Given the description of an element on the screen output the (x, y) to click on. 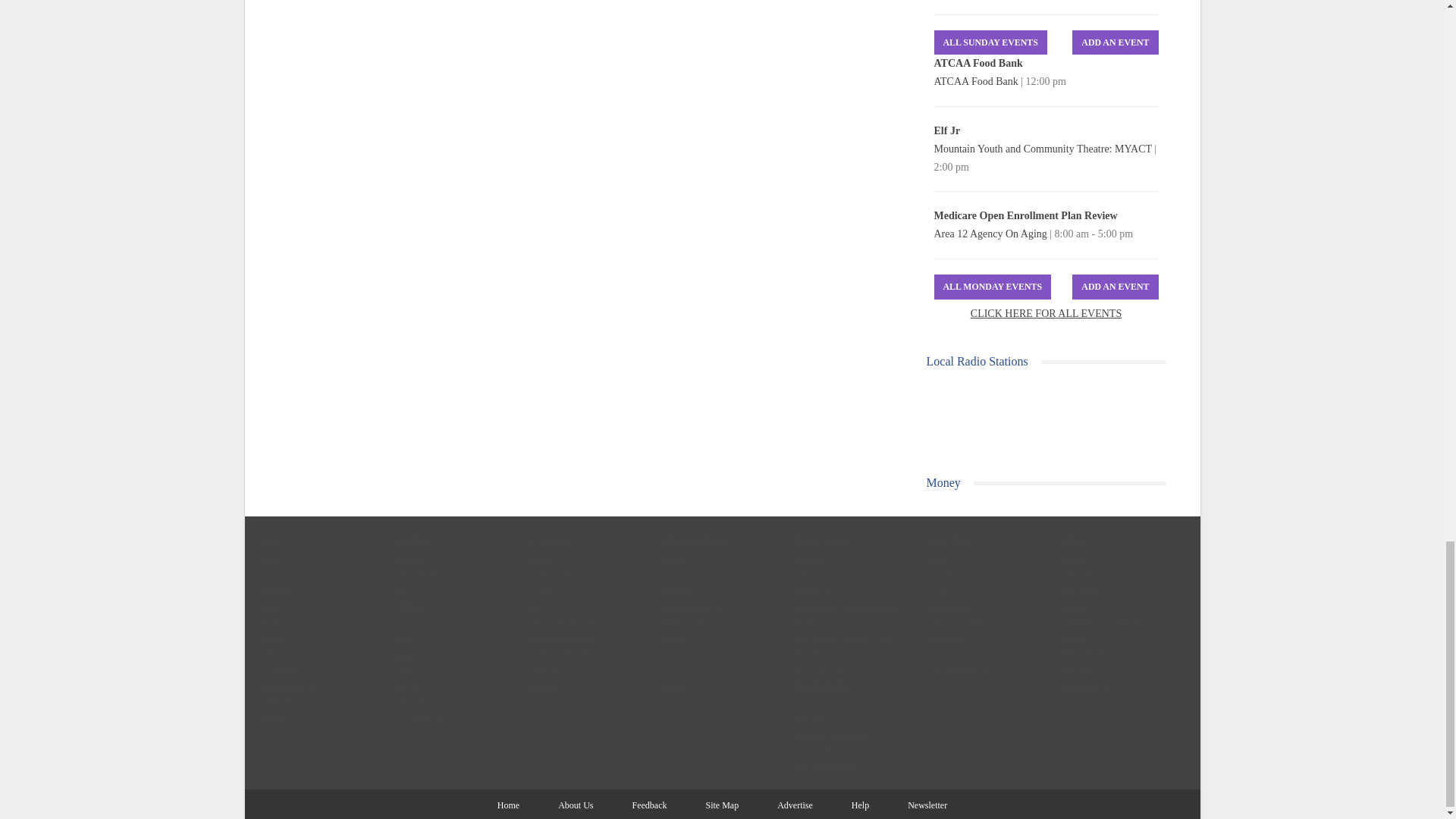
Add An Event (1114, 286)
All Sunday Events (990, 42)
Add An Event (1114, 42)
All Monday Events (992, 286)
